Given the description of an element on the screen output the (x, y) to click on. 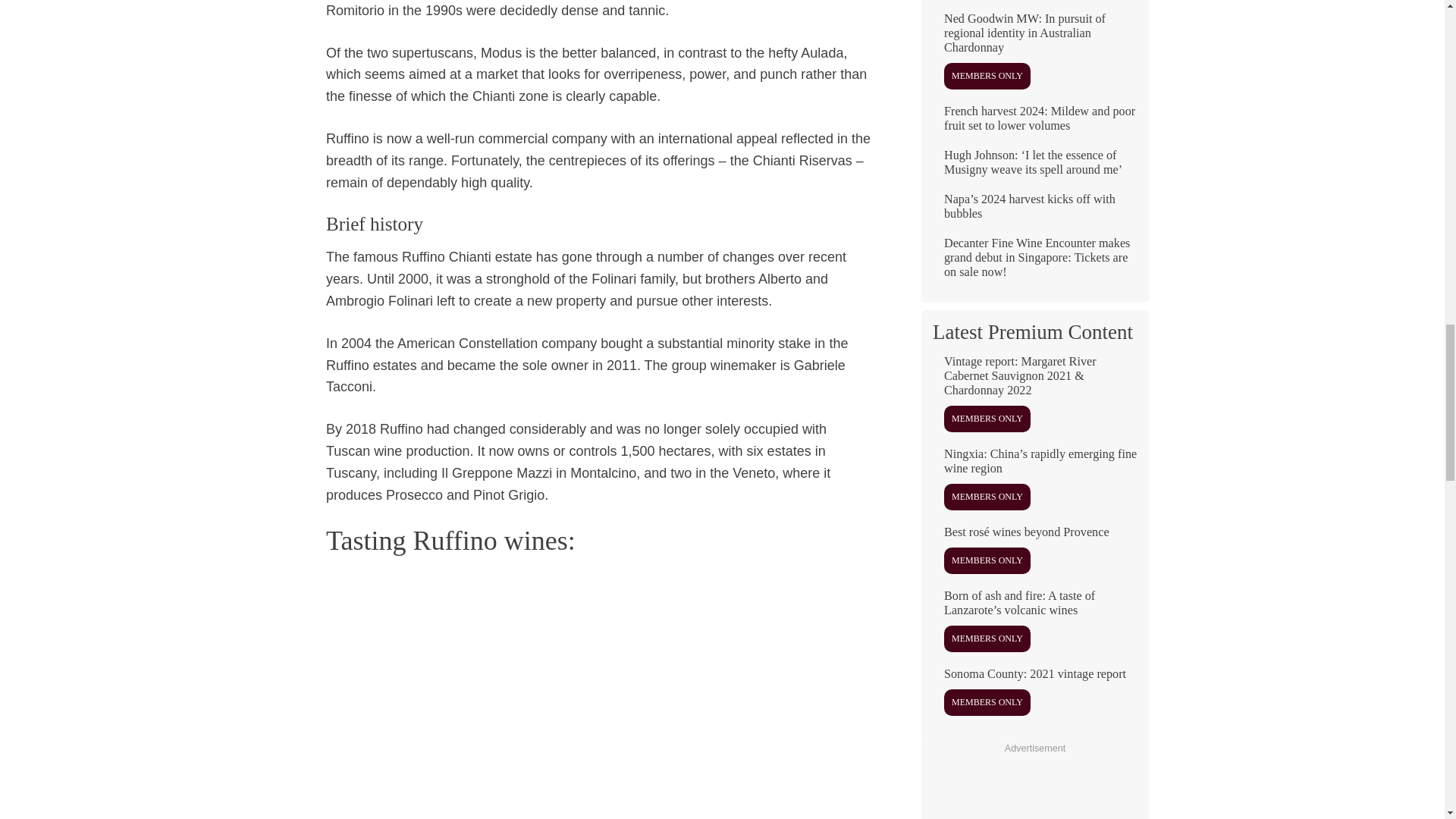
Sonoma County: 2021 vintage report (1035, 697)
